Given the description of an element on the screen output the (x, y) to click on. 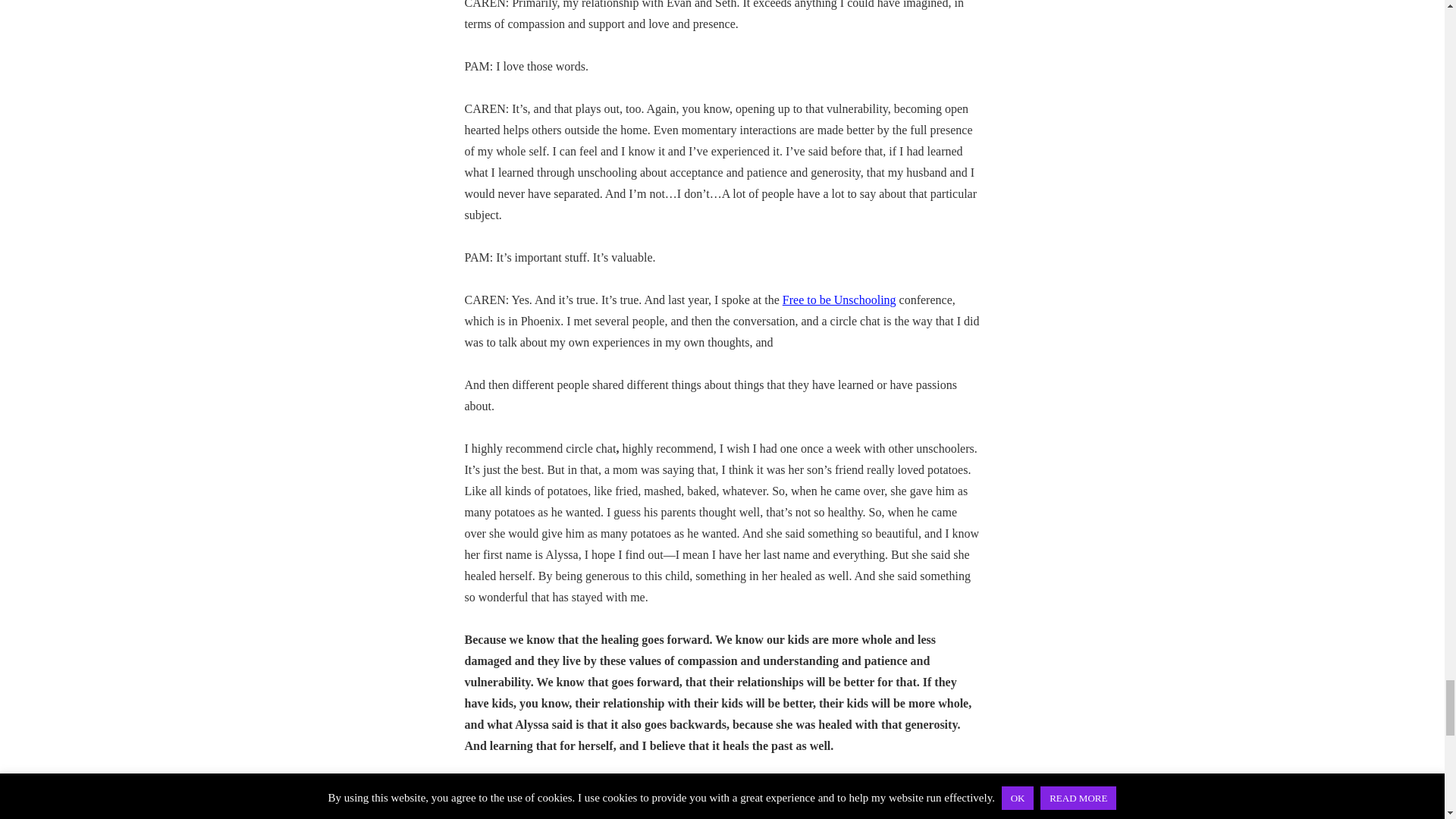
Free to be Unschooling (839, 299)
